Given the description of an element on the screen output the (x, y) to click on. 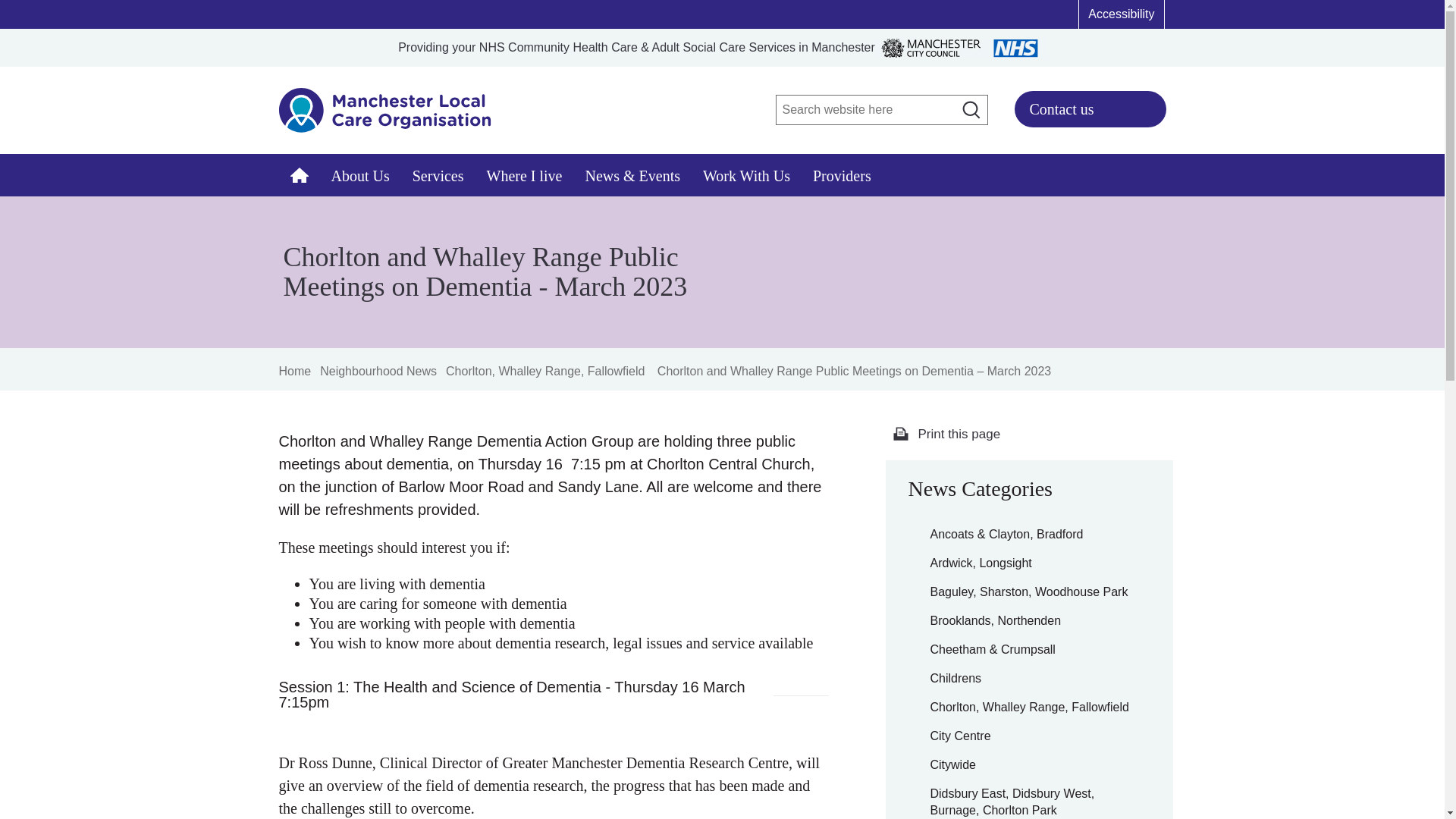
Go to the Neighbourhood News category archives. (378, 370)
Go to homepage (385, 117)
Manchester Local Care Organisation (299, 174)
Go to home (295, 371)
Accessibility (1120, 14)
About Us (360, 174)
Manchester Local Care Organisation (385, 117)
Contact us (1090, 108)
Services (438, 174)
